Given the description of an element on the screen output the (x, y) to click on. 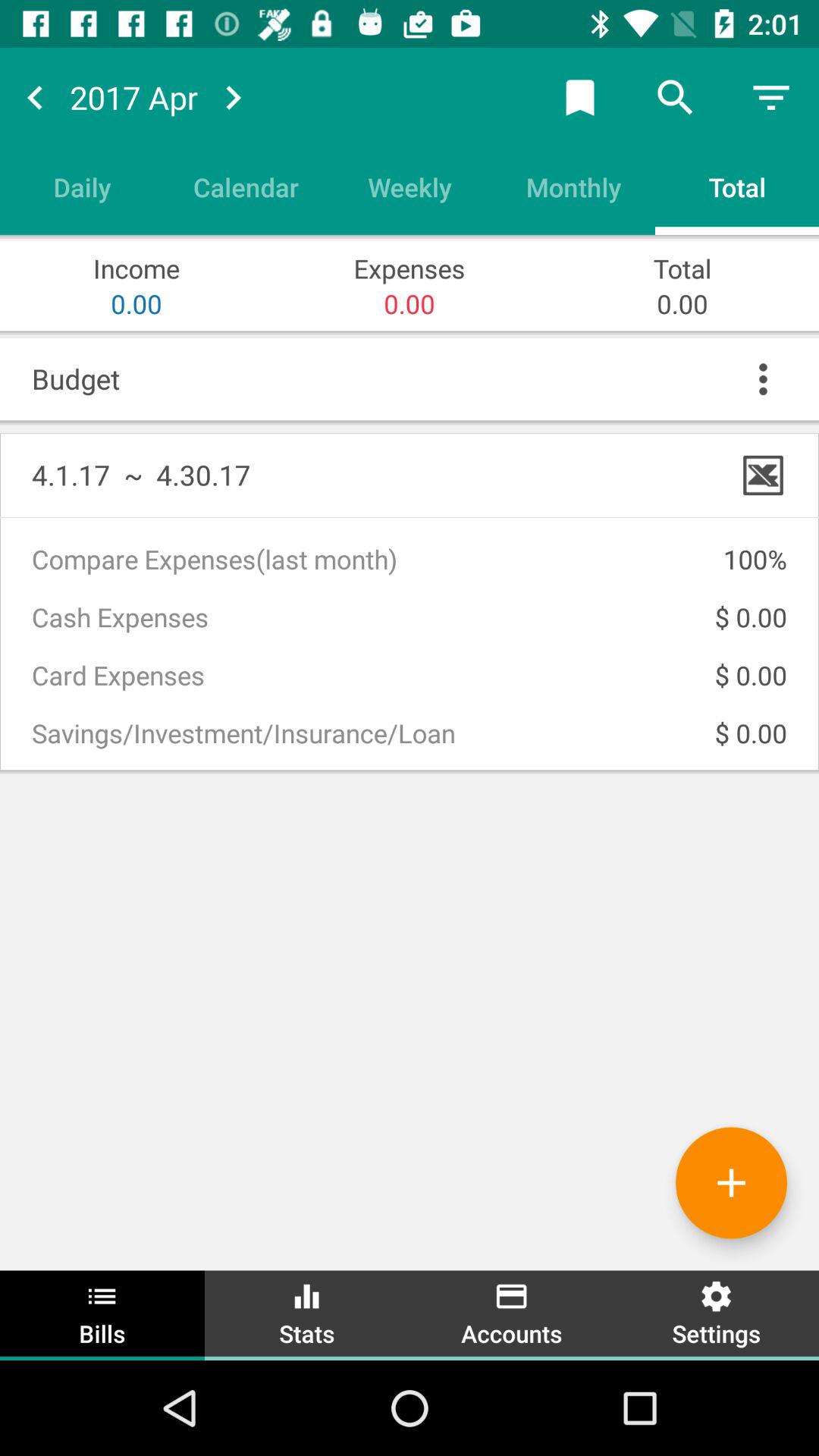
jump until weekly (409, 186)
